Given the description of an element on the screen output the (x, y) to click on. 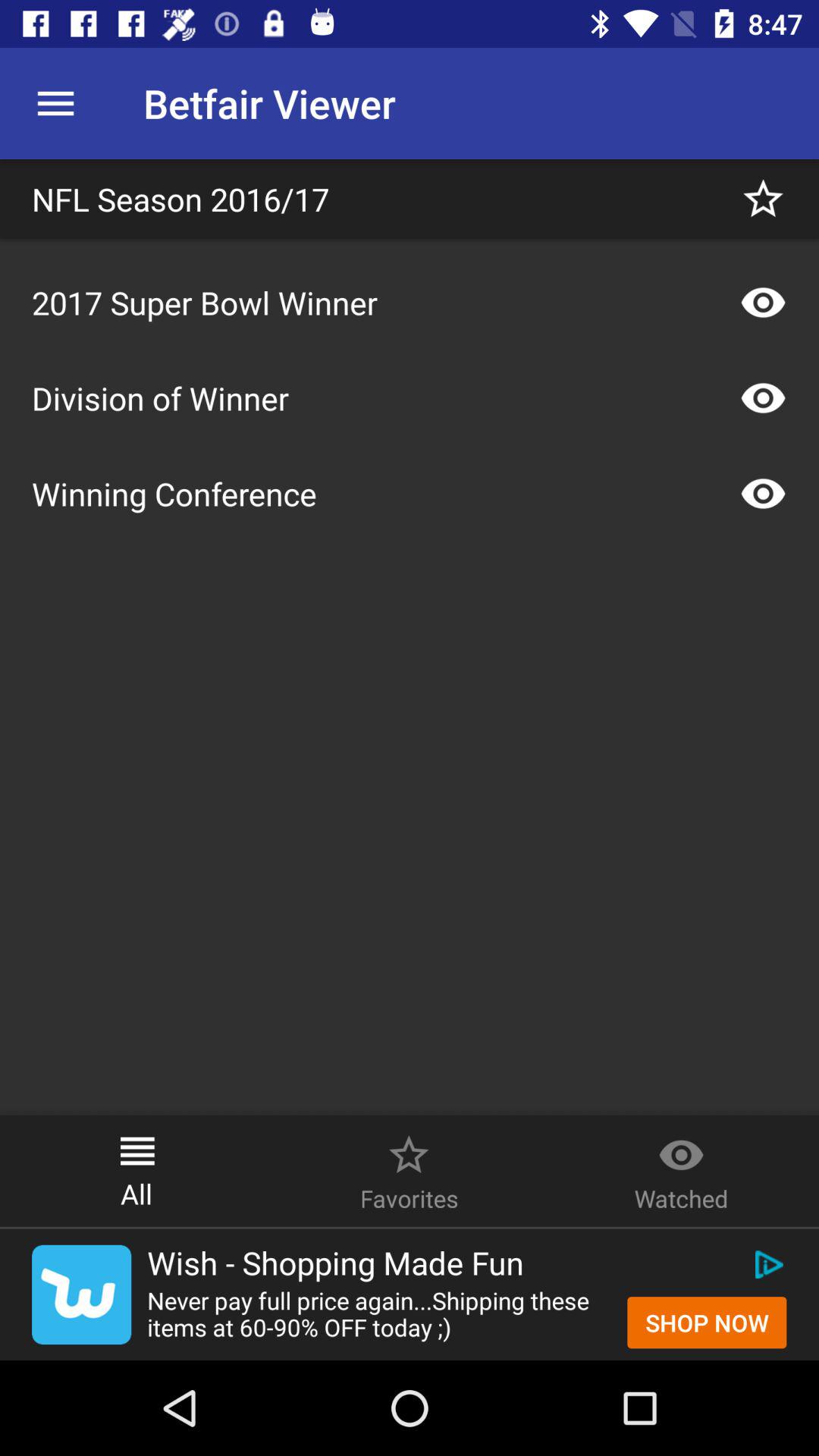
click on wish (81, 1294)
